Given the description of an element on the screen output the (x, y) to click on. 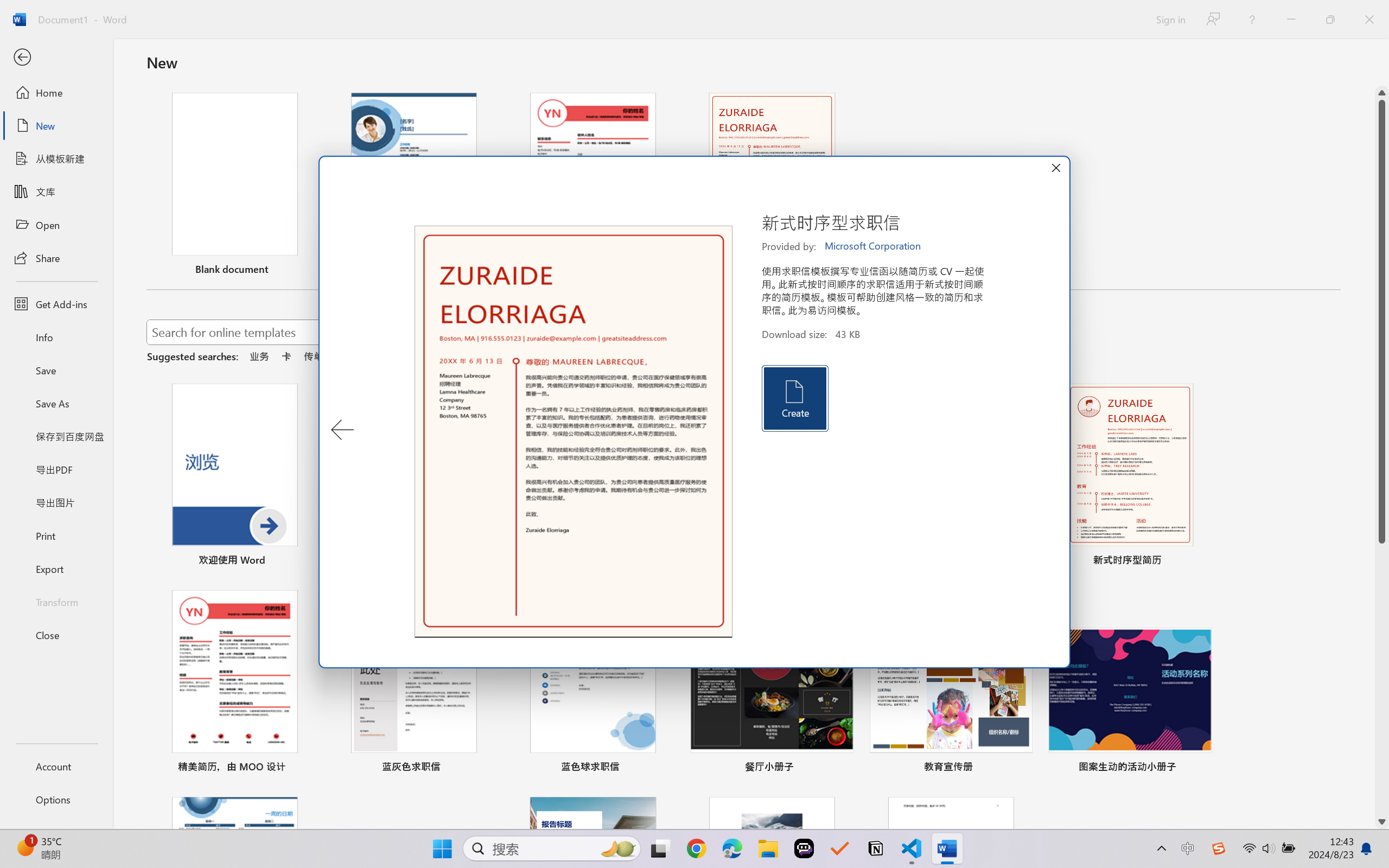
Export (56, 568)
Line down (1382, 821)
